Given the description of an element on the screen output the (x, y) to click on. 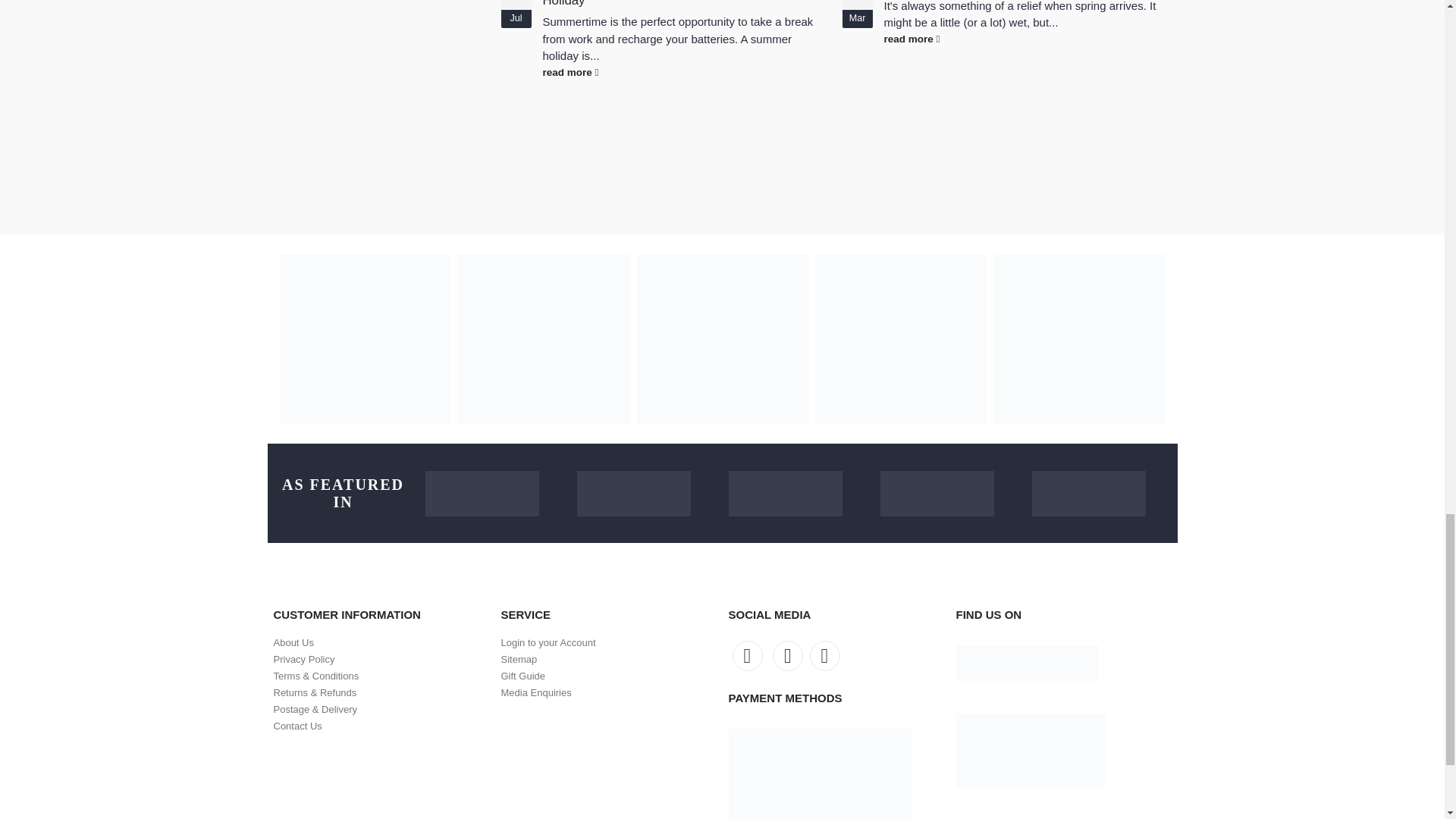
the-sun-web-white (481, 493)
hello-magzine-white-web-2 (633, 493)
martha-stewart-logo (784, 493)
